Given the description of an element on the screen output the (x, y) to click on. 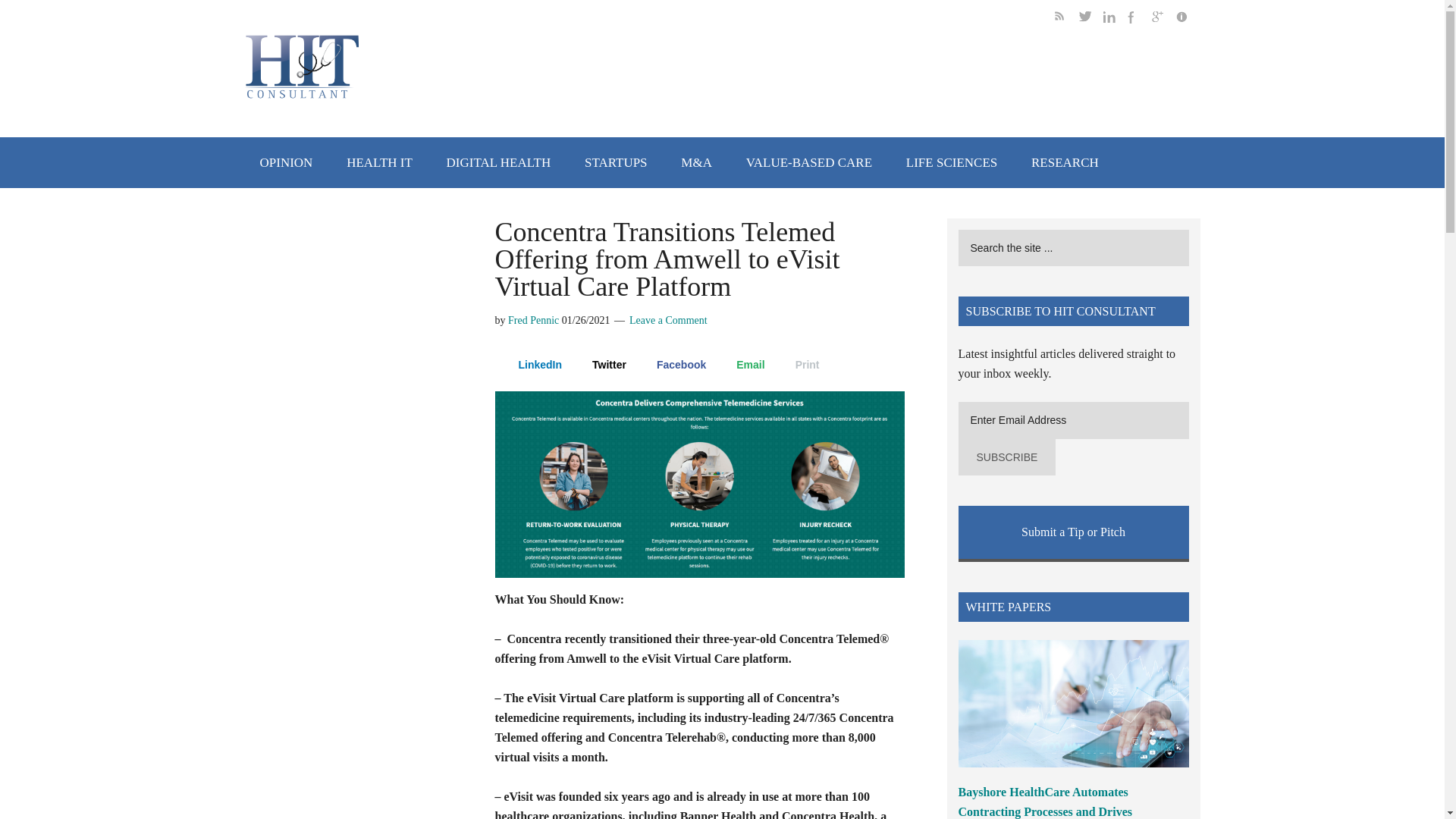
Leave a Comment (667, 319)
STARTUPS (615, 162)
follow (1138, 19)
Fred Pennic (533, 319)
OPINION (285, 162)
Subscribe (1007, 456)
Facebook (673, 364)
get feed (1066, 19)
Twitter (601, 364)
follow (1114, 19)
